Given the description of an element on the screen output the (x, y) to click on. 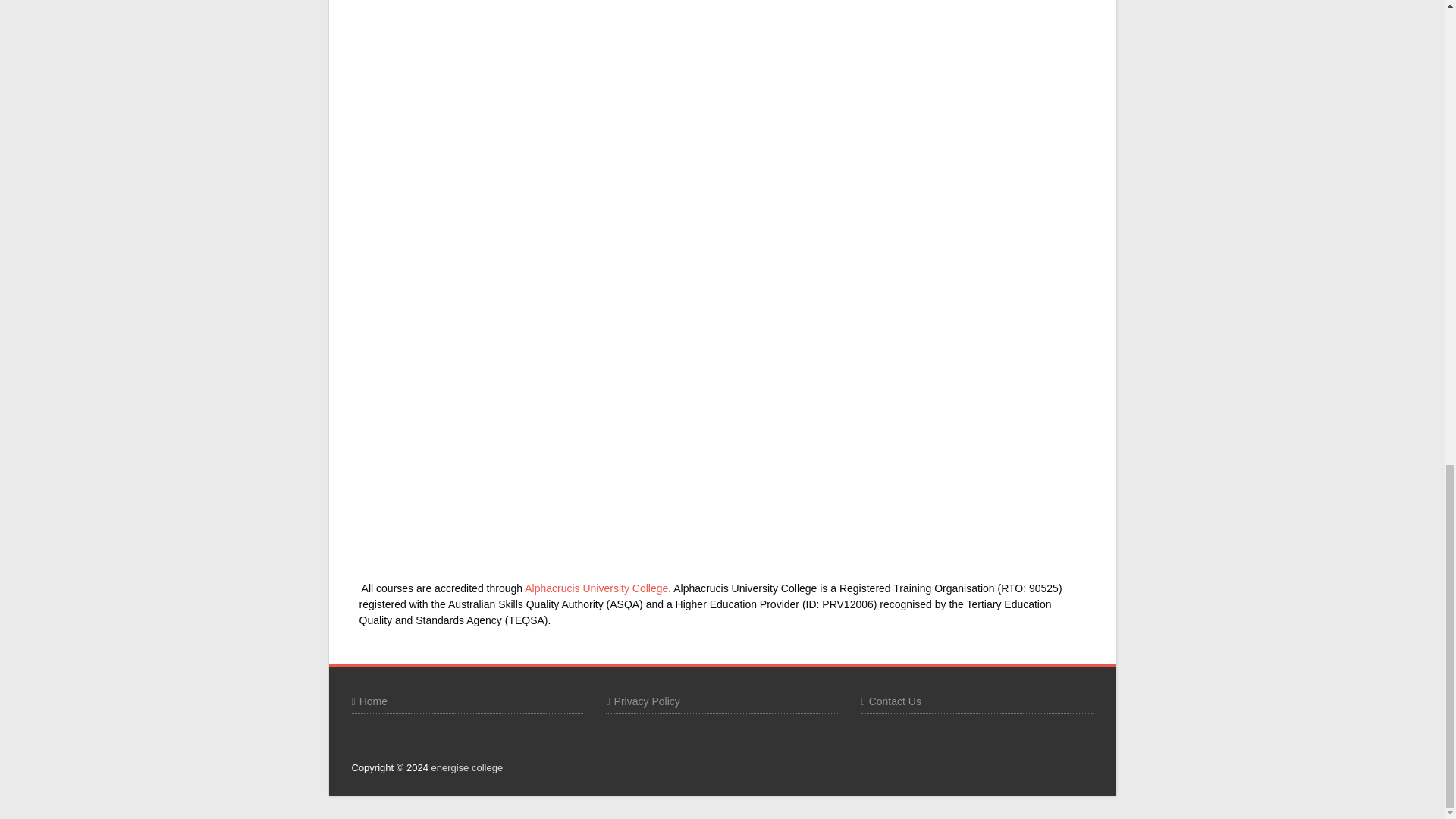
Home (369, 701)
Privacy Policy (642, 701)
energise college (466, 767)
energise college (466, 767)
Contact Us (891, 701)
Alphacrucis University College (596, 588)
